Given the description of an element on the screen output the (x, y) to click on. 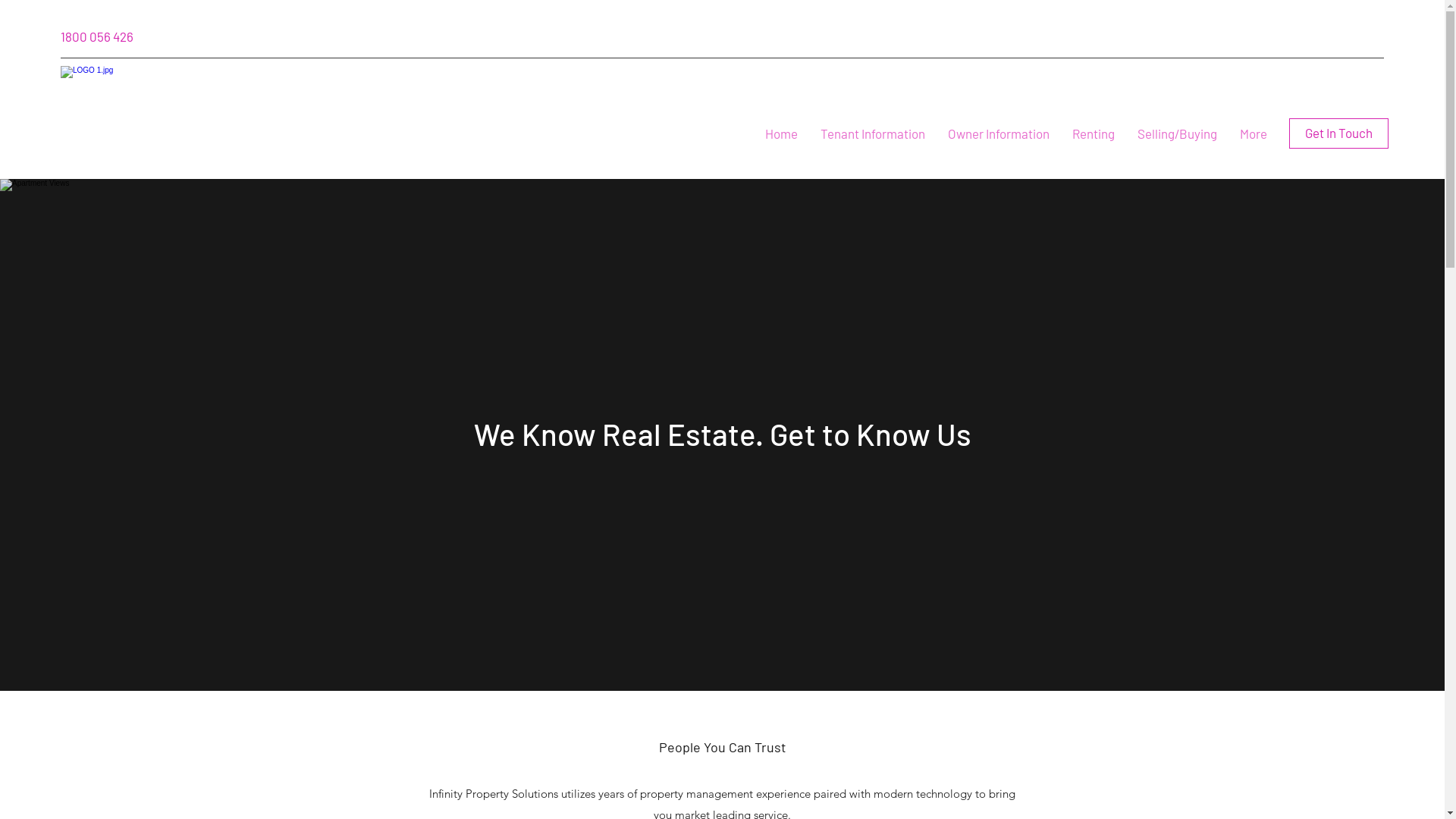
Owner Information Element type: text (998, 133)
Renting Element type: text (1093, 133)
Home Element type: text (781, 133)
Tenant Information Element type: text (872, 133)
Get In Touch Element type: text (1338, 133)
Selling/Buying Element type: text (1177, 133)
